Given the description of an element on the screen output the (x, y) to click on. 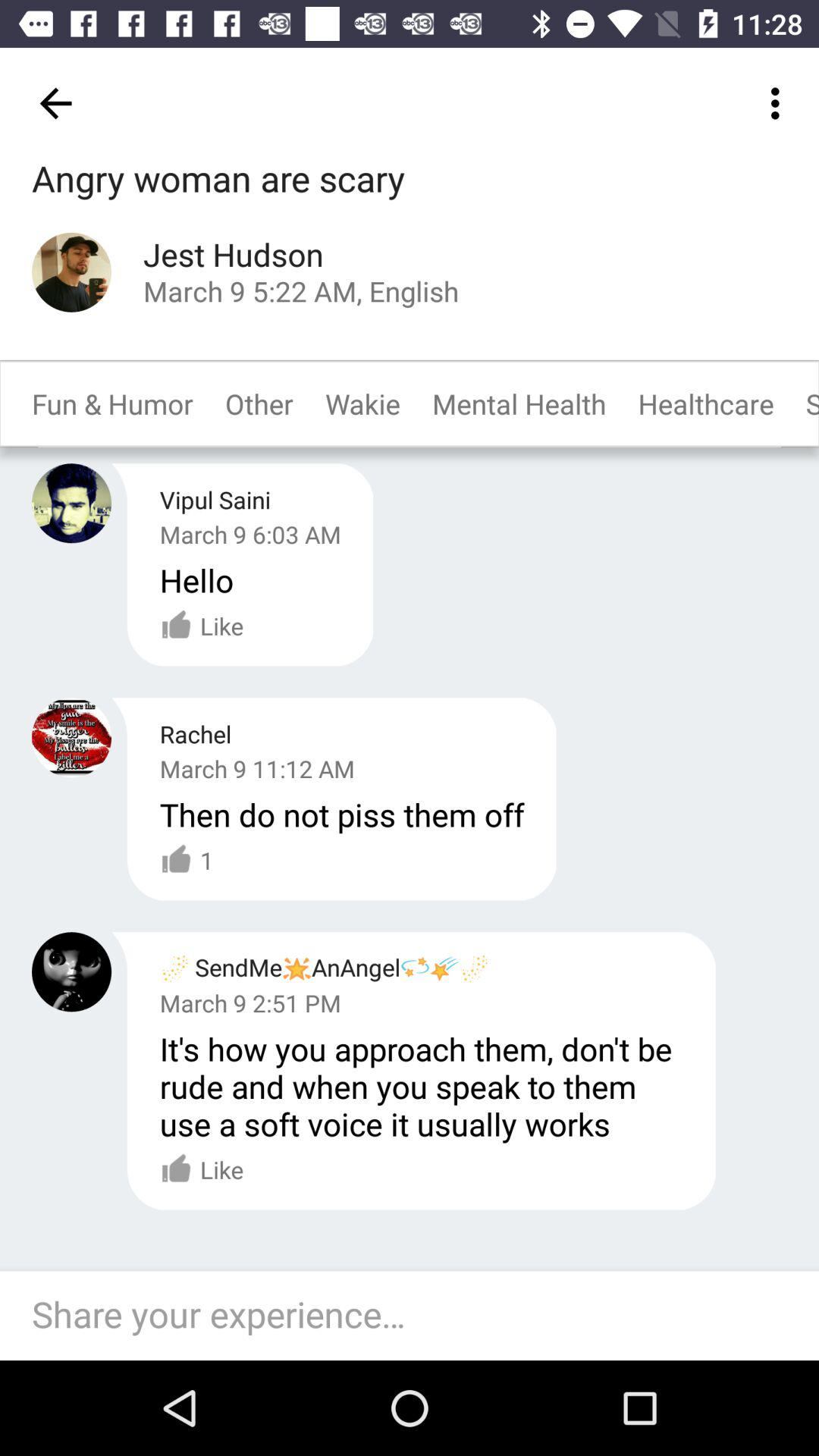
launch item below the like item (417, 1315)
